Given the description of an element on the screen output the (x, y) to click on. 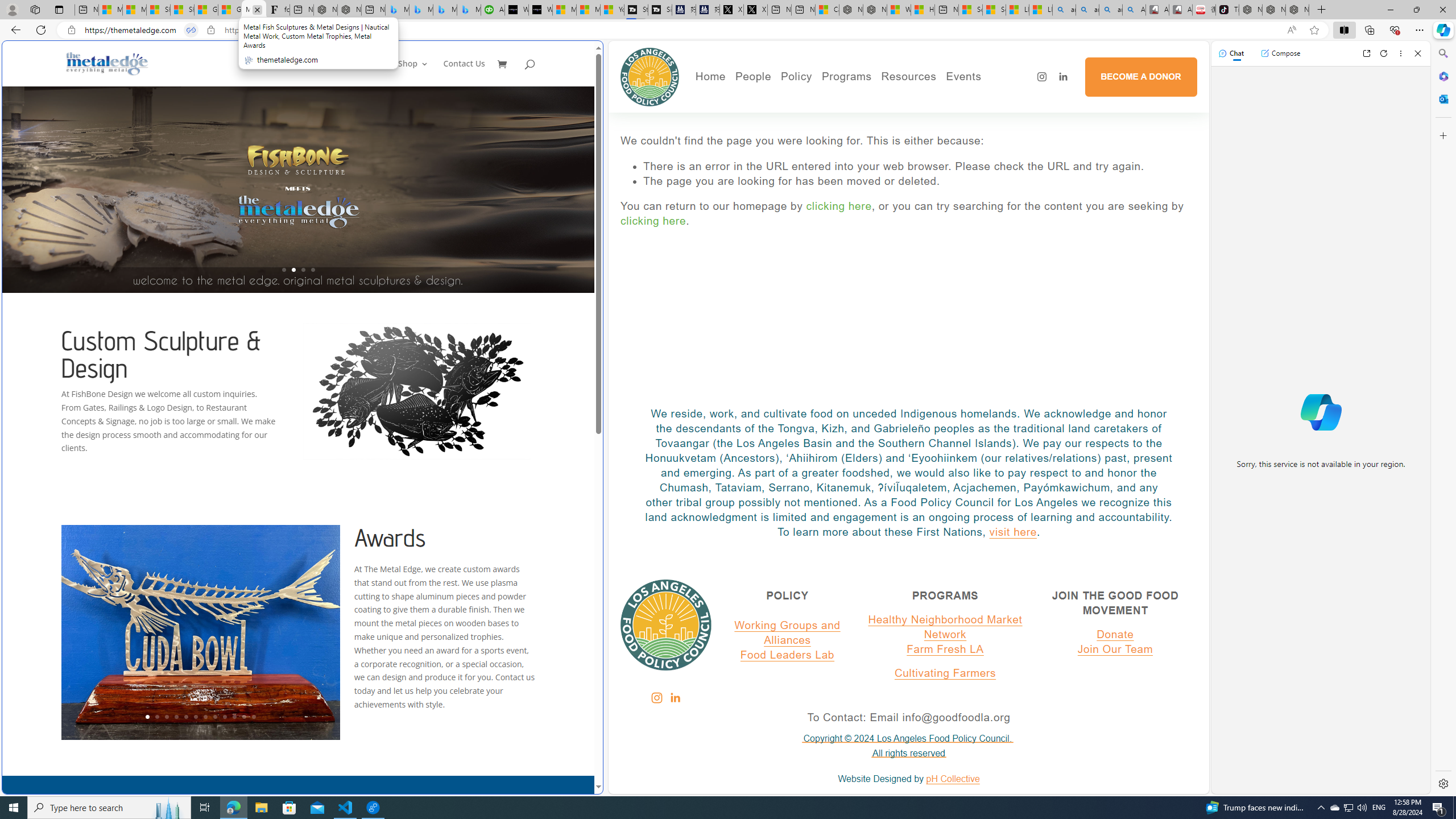
LinkedIn (675, 697)
amazon - Search Images (1110, 9)
